Given the description of an element on the screen output the (x, y) to click on. 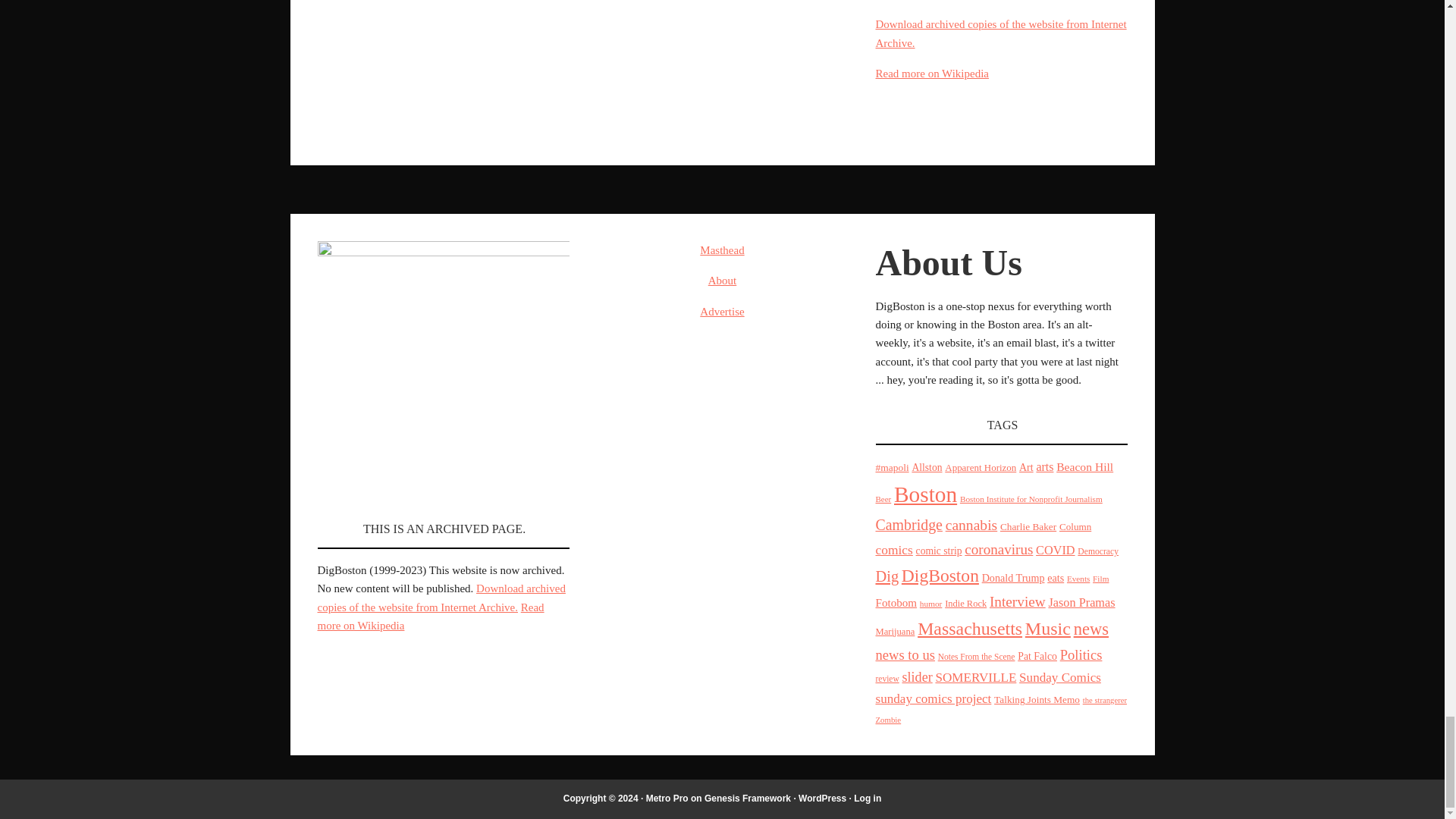
About (721, 280)
Advertise (722, 311)
Masthead (722, 250)
